Given the description of an element on the screen output the (x, y) to click on. 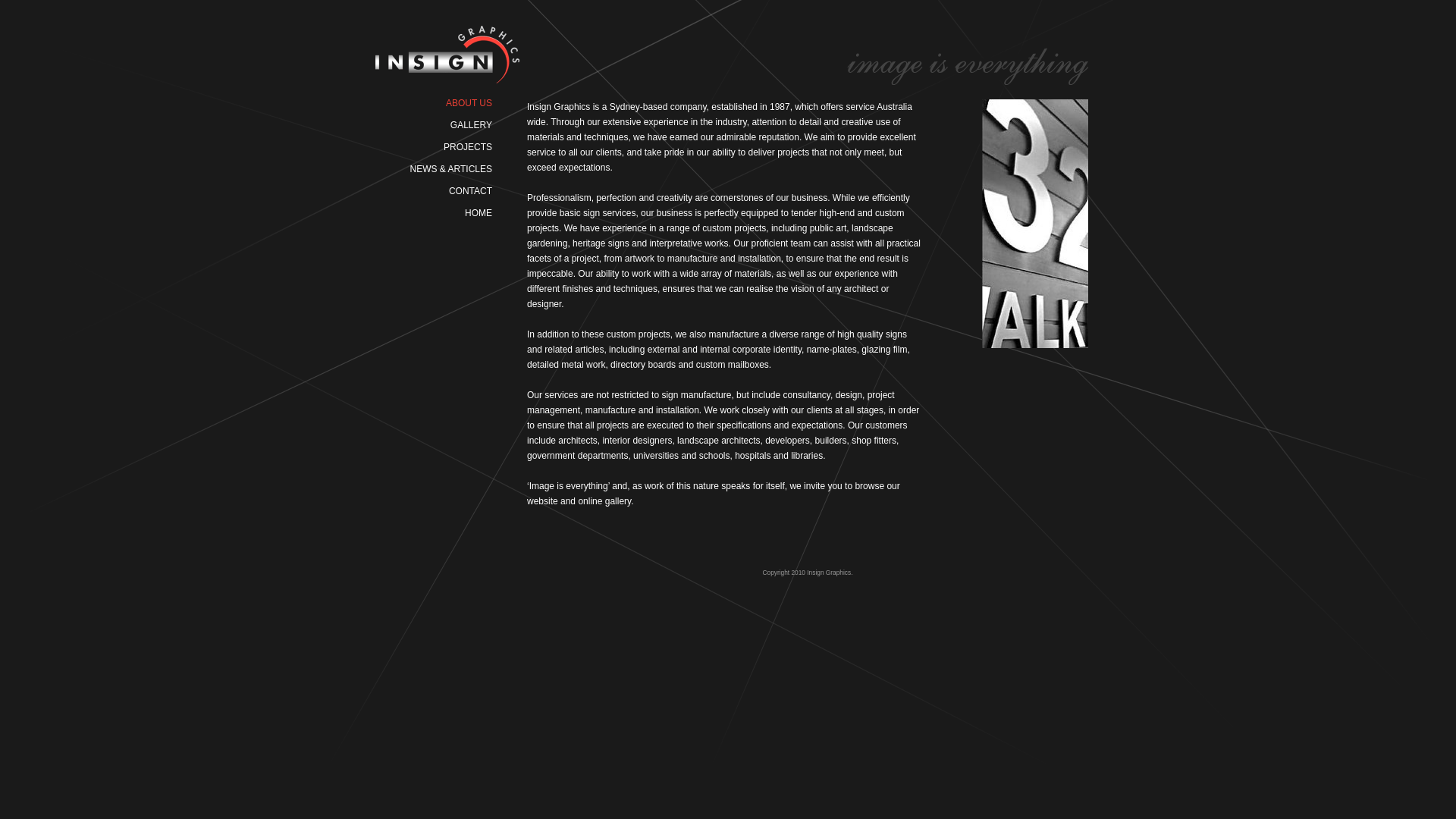
HOME Element type: text (478, 212)
CONTACT Element type: text (429, 185)
PROJECTS Element type: text (429, 141)
GALLERY Element type: text (429, 119)
CONTACT Element type: text (470, 190)
HOME Element type: text (429, 207)
NEWS & ARTICLES Element type: text (429, 163)
